Given the description of an element on the screen output the (x, y) to click on. 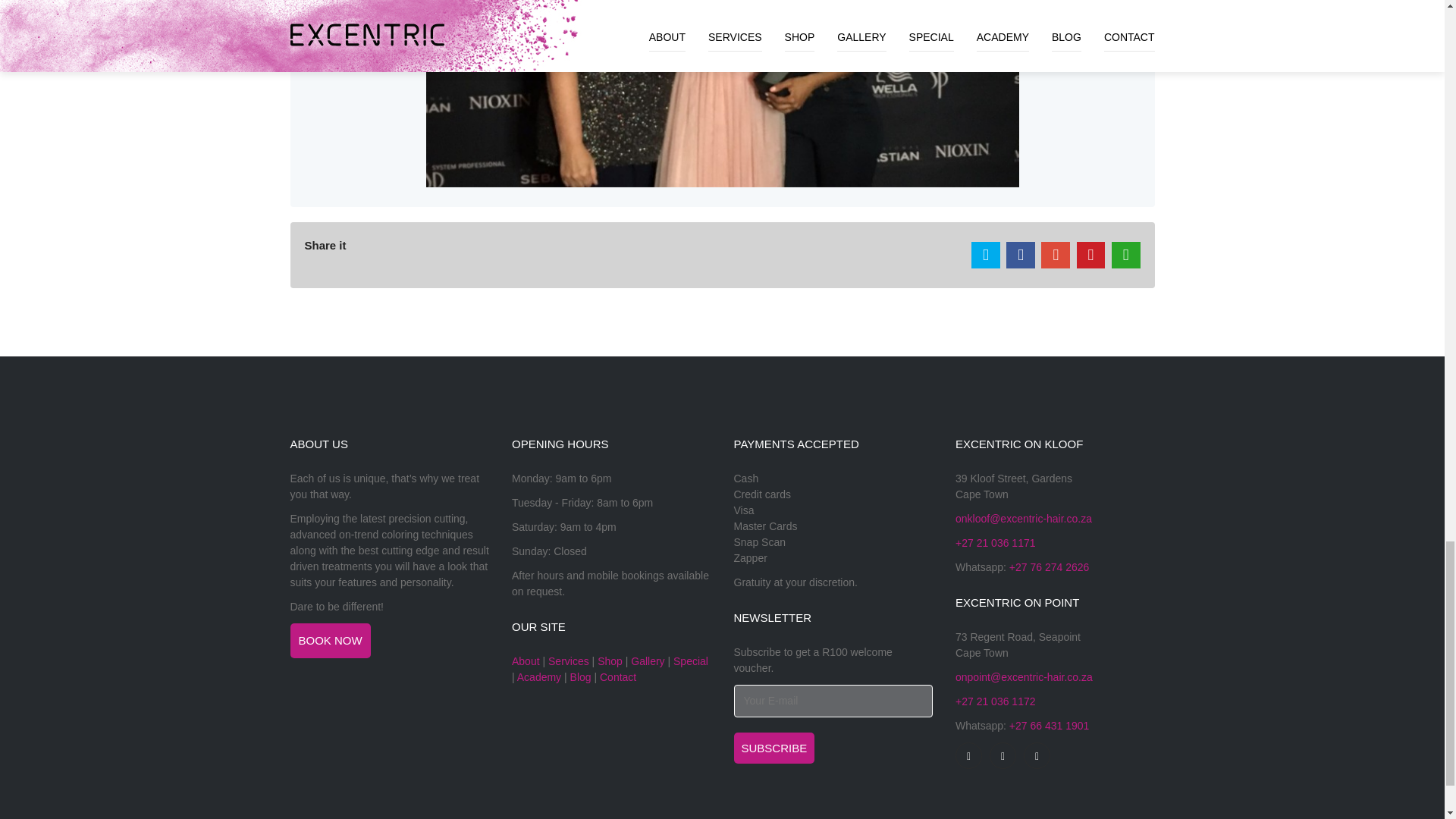
Blog (580, 676)
Services (568, 661)
BOOK NOW (329, 640)
About (526, 661)
Contact (617, 676)
SUBSCRIBE (774, 747)
Academy (538, 676)
Special (689, 661)
Shop (609, 661)
Gallery (646, 661)
